Given the description of an element on the screen output the (x, y) to click on. 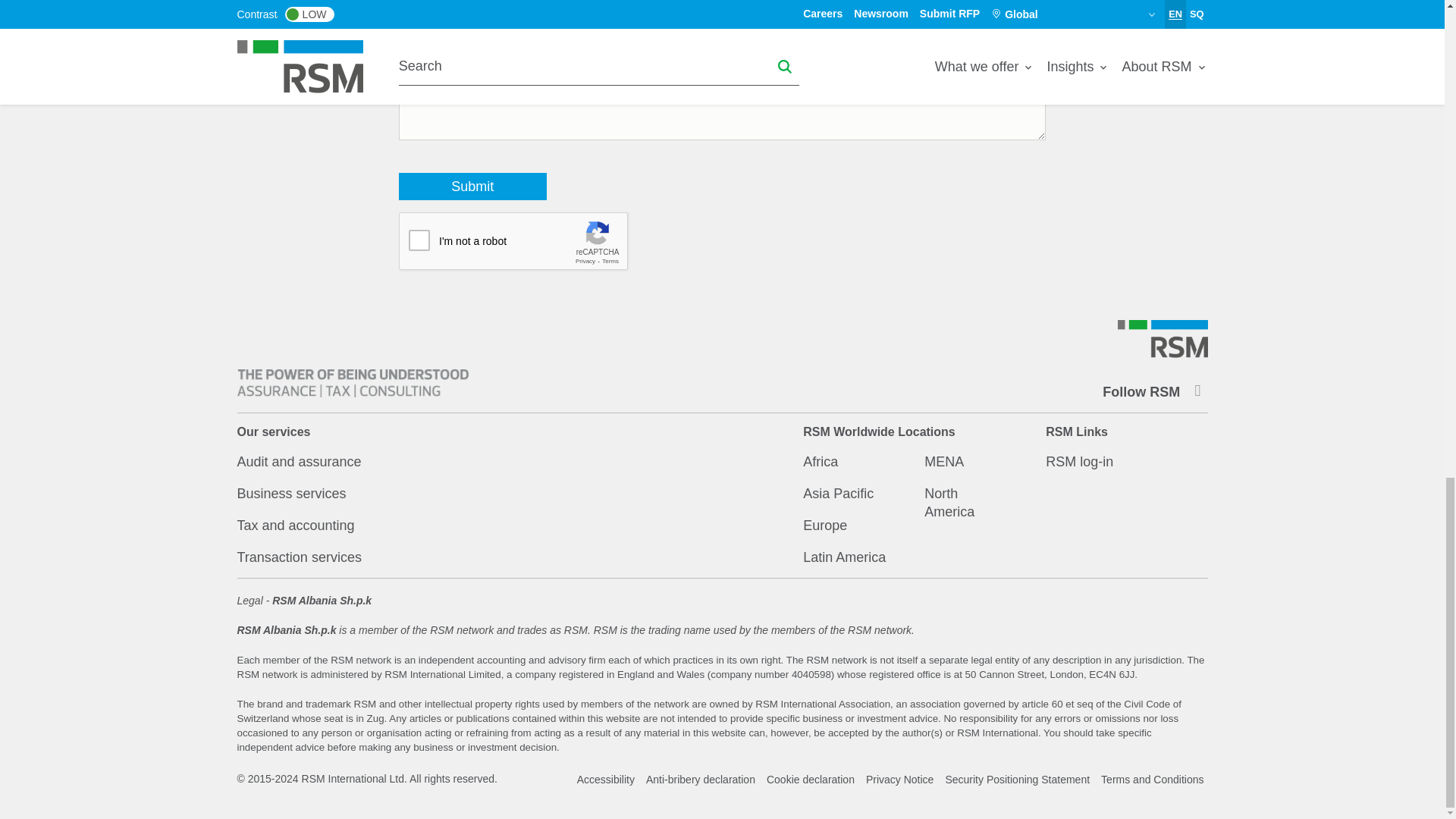
Submit (472, 185)
reCAPTCHA (513, 241)
